Given the description of an element on the screen output the (x, y) to click on. 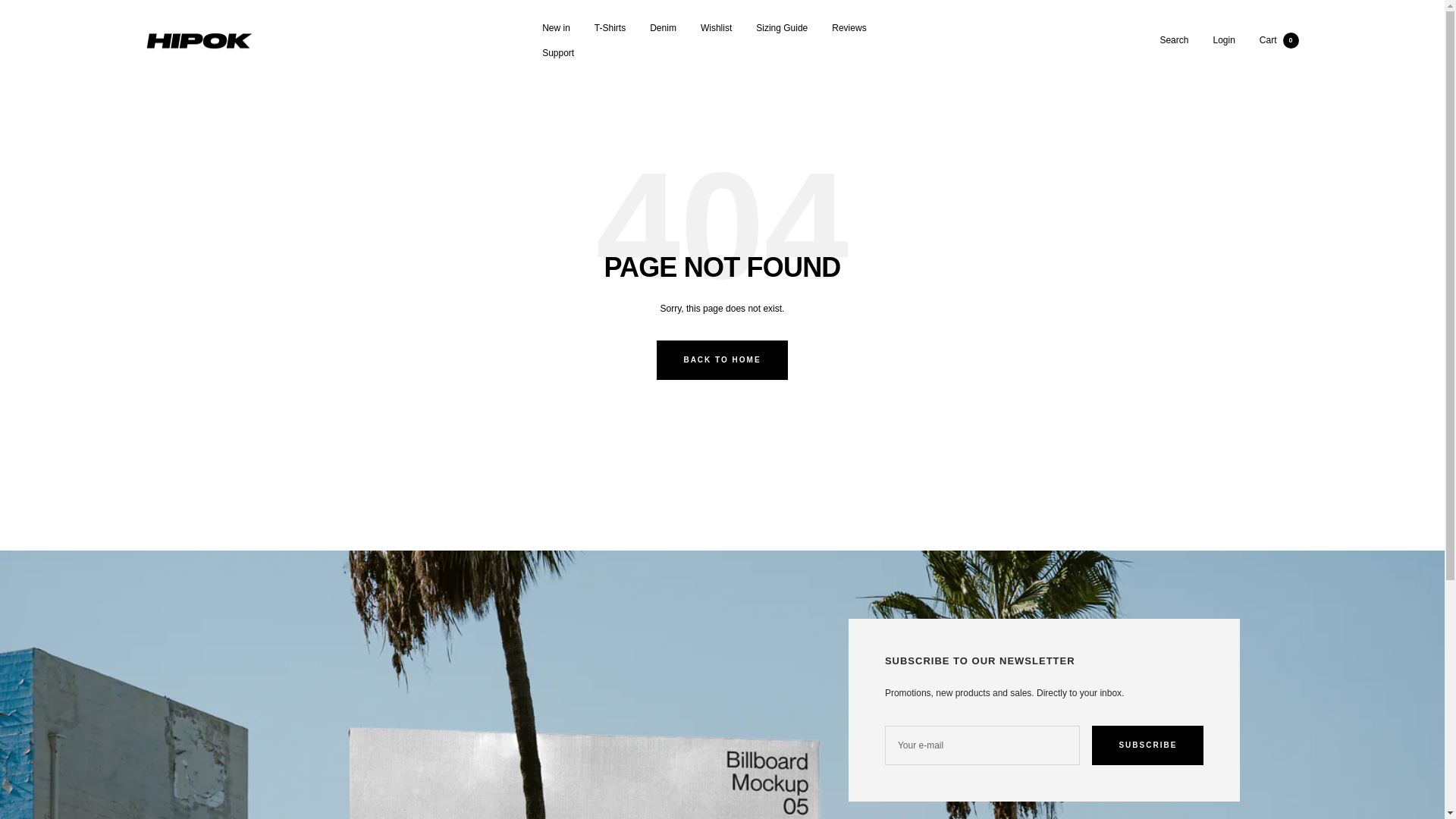
Search (1173, 40)
New in (555, 28)
Denim (663, 28)
Hipok Brand (198, 40)
AF (200, 784)
Login (1223, 40)
Sizing Guide (781, 28)
BACK TO HOME (721, 360)
Support (557, 53)
